Given the description of an element on the screen output the (x, y) to click on. 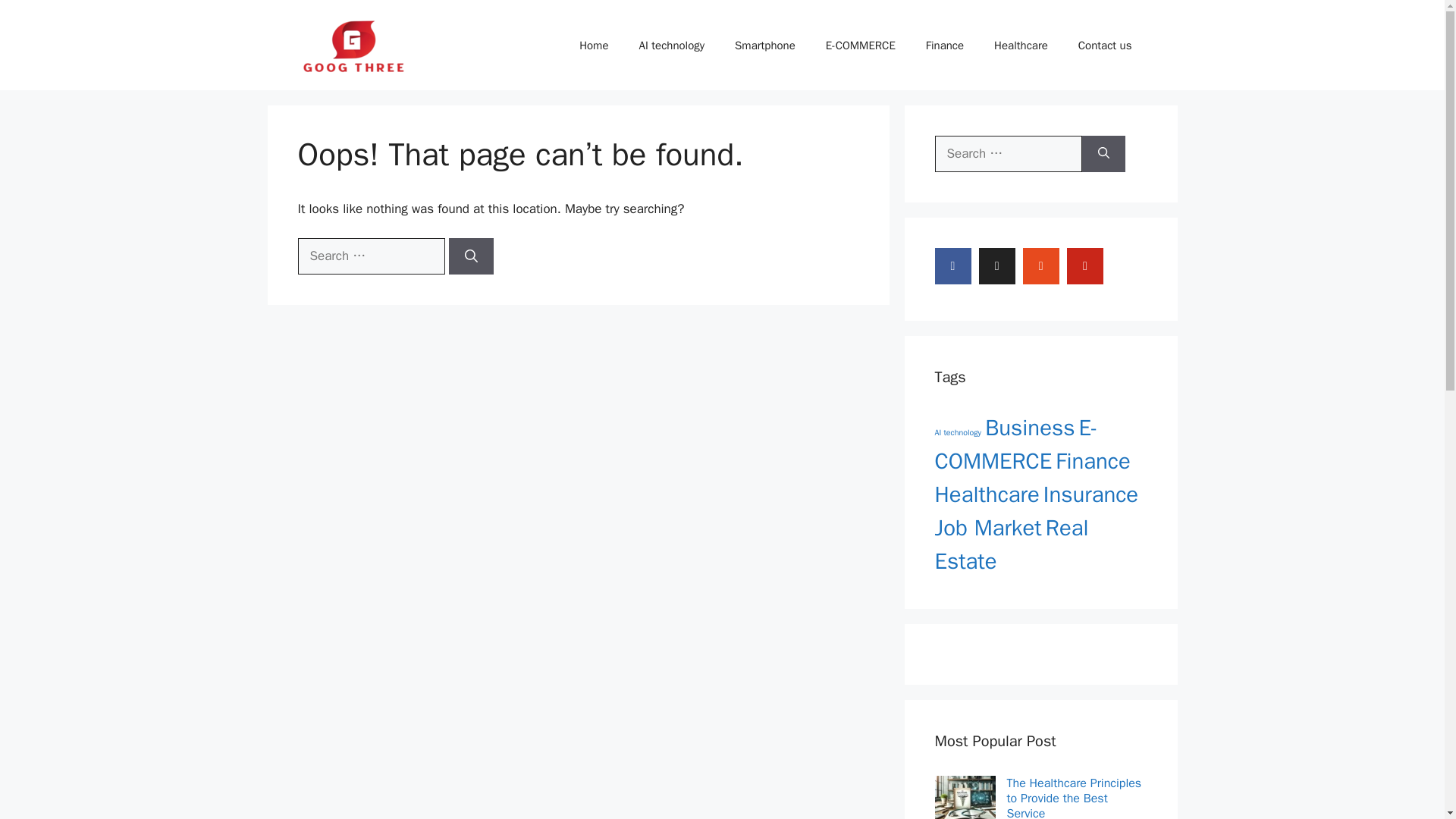
Smartphone (764, 44)
E-COMMERCE (1015, 444)
The Healthcare Principles to Provide the Best Service (1077, 797)
pinterest (1085, 265)
Pinterest (1085, 265)
Facebook (952, 265)
Home (593, 44)
Business (1029, 428)
reddit (1041, 265)
Job Market (987, 528)
Search for: (1007, 153)
Insurance (1090, 494)
AI technology (957, 432)
Contact us (1104, 44)
facebook (952, 265)
